Given the description of an element on the screen output the (x, y) to click on. 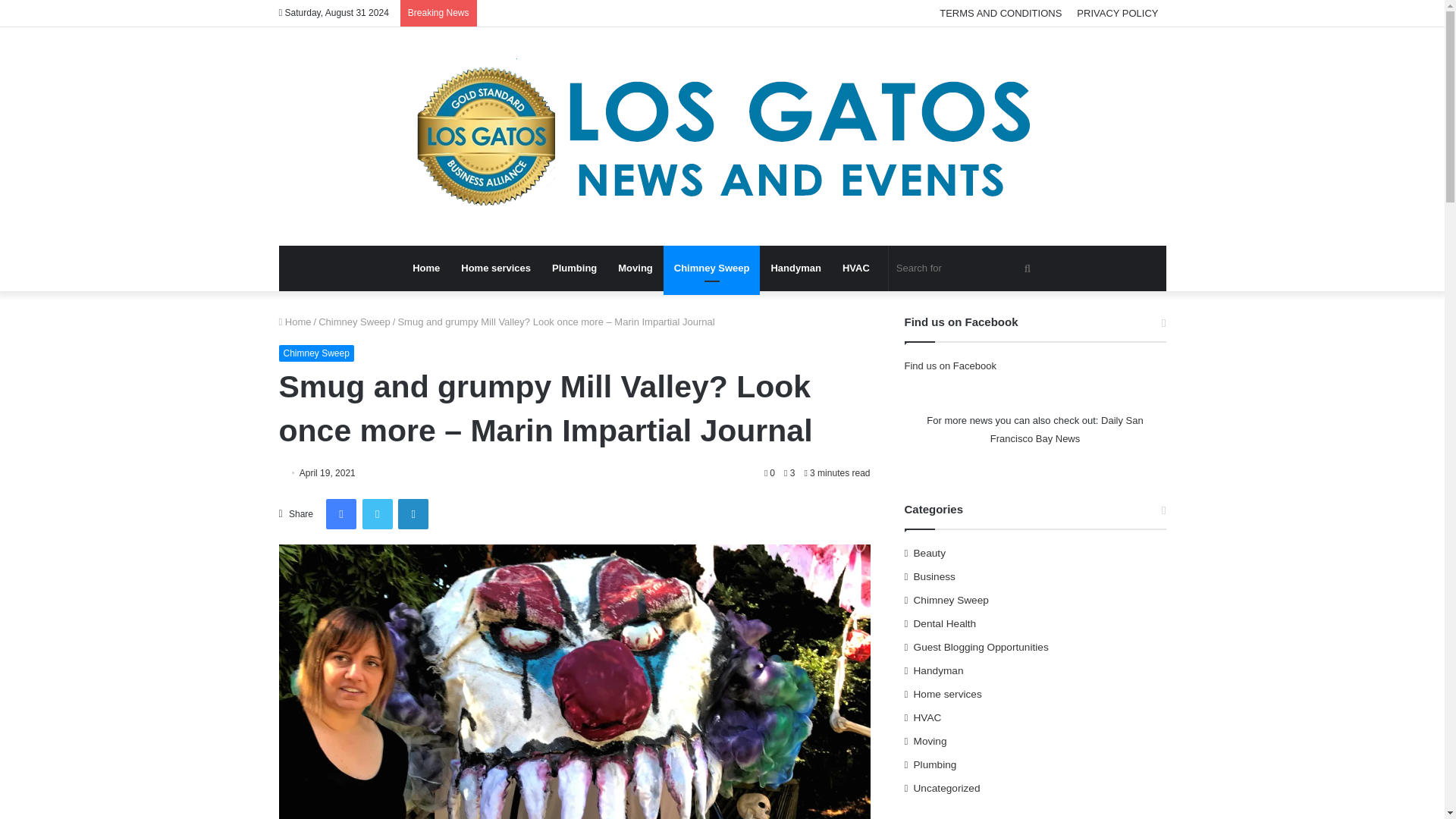
Facebook (341, 513)
Home (425, 268)
PRIVACY POLICY (1117, 13)
Handyman (795, 268)
HVAC (855, 268)
Moving (635, 268)
Chimney Sweep (354, 321)
Twitter (377, 513)
Home services (495, 268)
Los Gatos News And Events (722, 136)
